Given the description of an element on the screen output the (x, y) to click on. 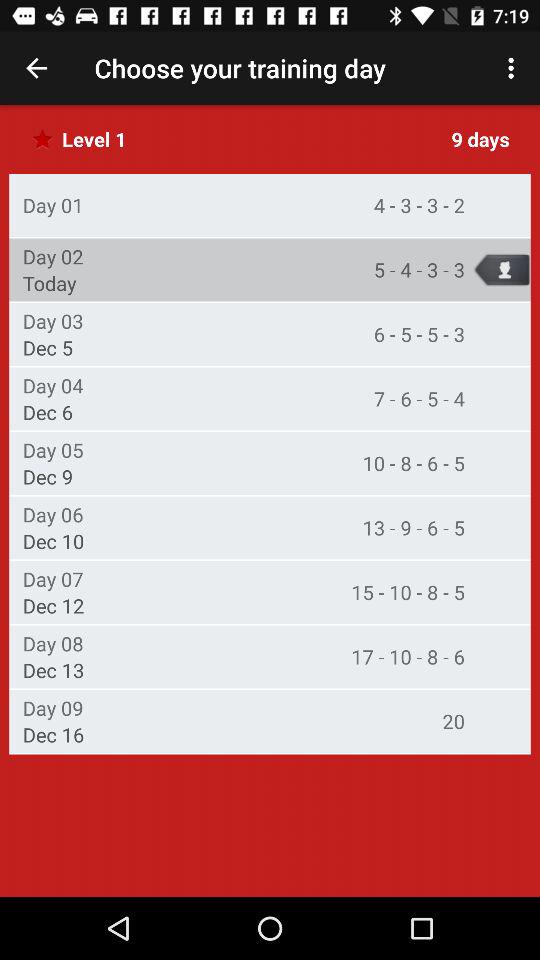
open item next to 17 10 8 item (52, 643)
